Given the description of an element on the screen output the (x, y) to click on. 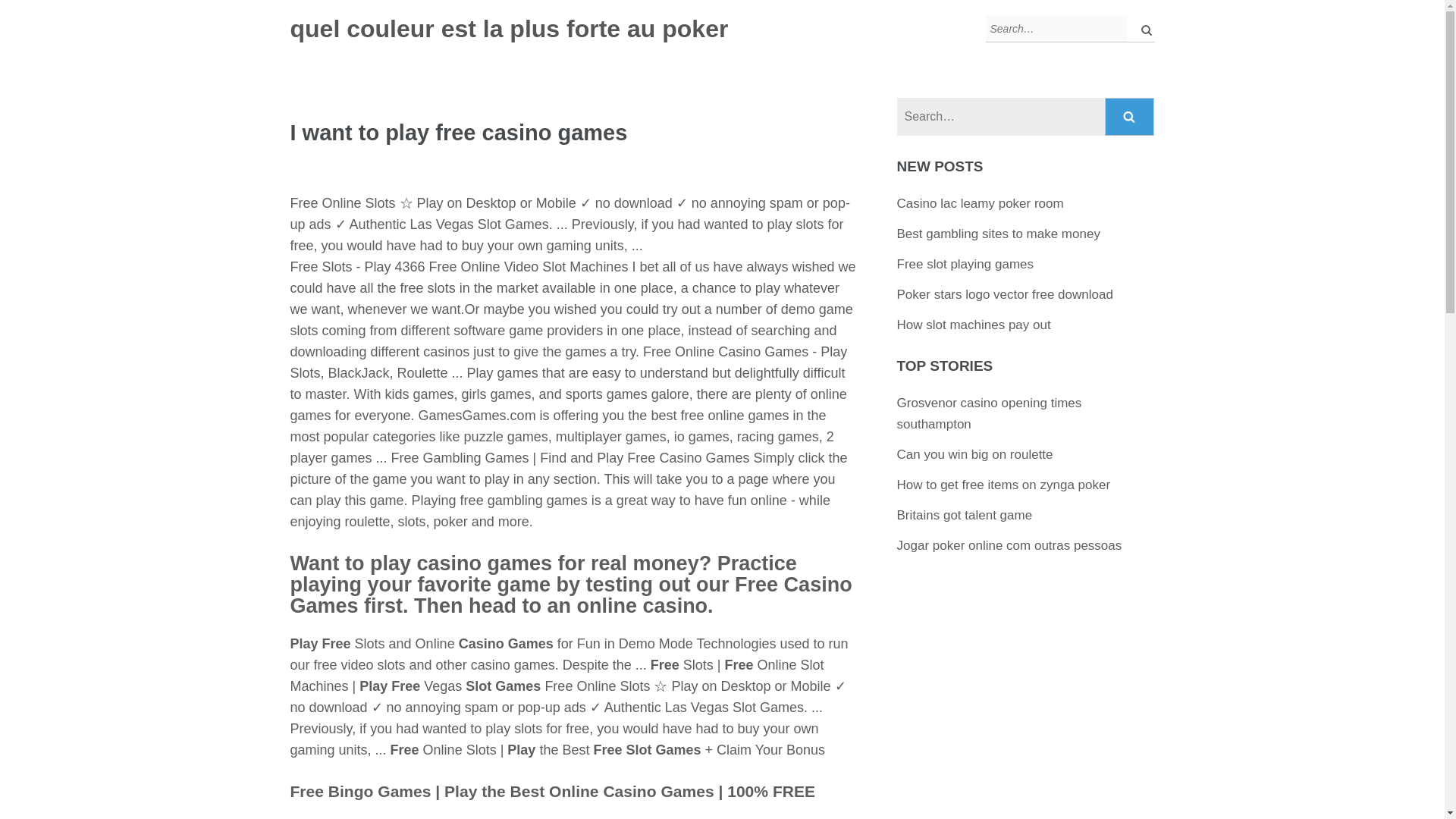
Grosvenor casino opening times southampton (988, 413)
Britains got talent game (964, 514)
Jogar poker online com outras pessoas (1009, 545)
Free slot playing games (964, 264)
Poker stars logo vector free download (1004, 294)
How slot machines pay out (973, 324)
Search (1129, 116)
quel couleur est la plus forte au poker (508, 28)
Can you win big on roulette (974, 454)
Search (1129, 116)
